Given the description of an element on the screen output the (x, y) to click on. 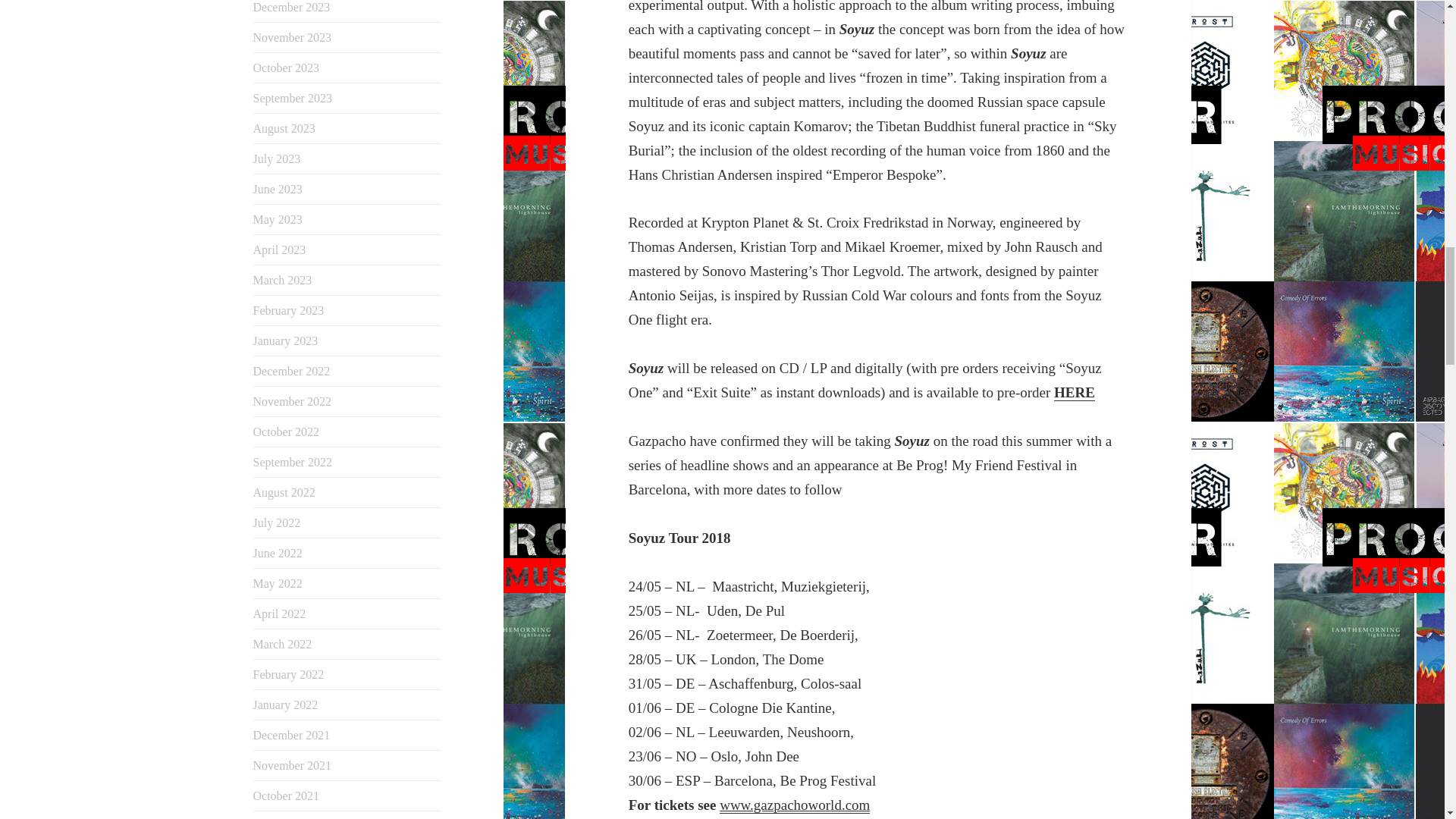
March 2023 (283, 279)
July 2023 (277, 158)
June 2023 (277, 188)
April 2023 (279, 249)
May 2023 (277, 219)
August 2023 (284, 128)
December 2023 (291, 6)
October 2023 (286, 67)
September 2023 (292, 97)
December 2022 (291, 370)
